Given the description of an element on the screen output the (x, y) to click on. 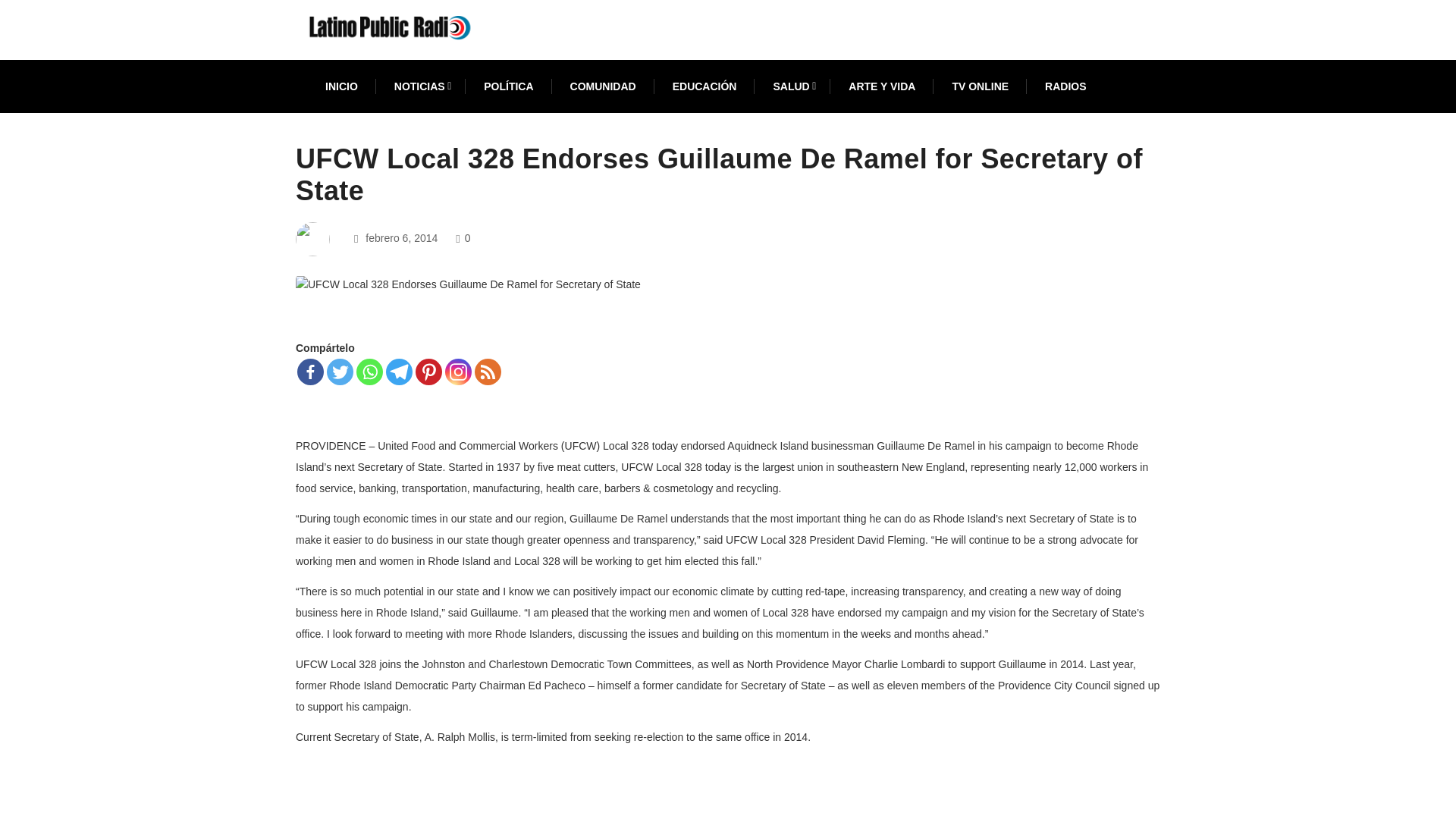
COMUNIDAD (603, 86)
NOTICIAS (420, 86)
Facebook (310, 371)
Whatsapp (369, 371)
ARTE Y VIDA (881, 86)
Pinterest (428, 371)
Instagram (458, 371)
TV ONLINE (980, 86)
Twitter (339, 371)
RSS Feed (487, 371)
